Given the description of an element on the screen output the (x, y) to click on. 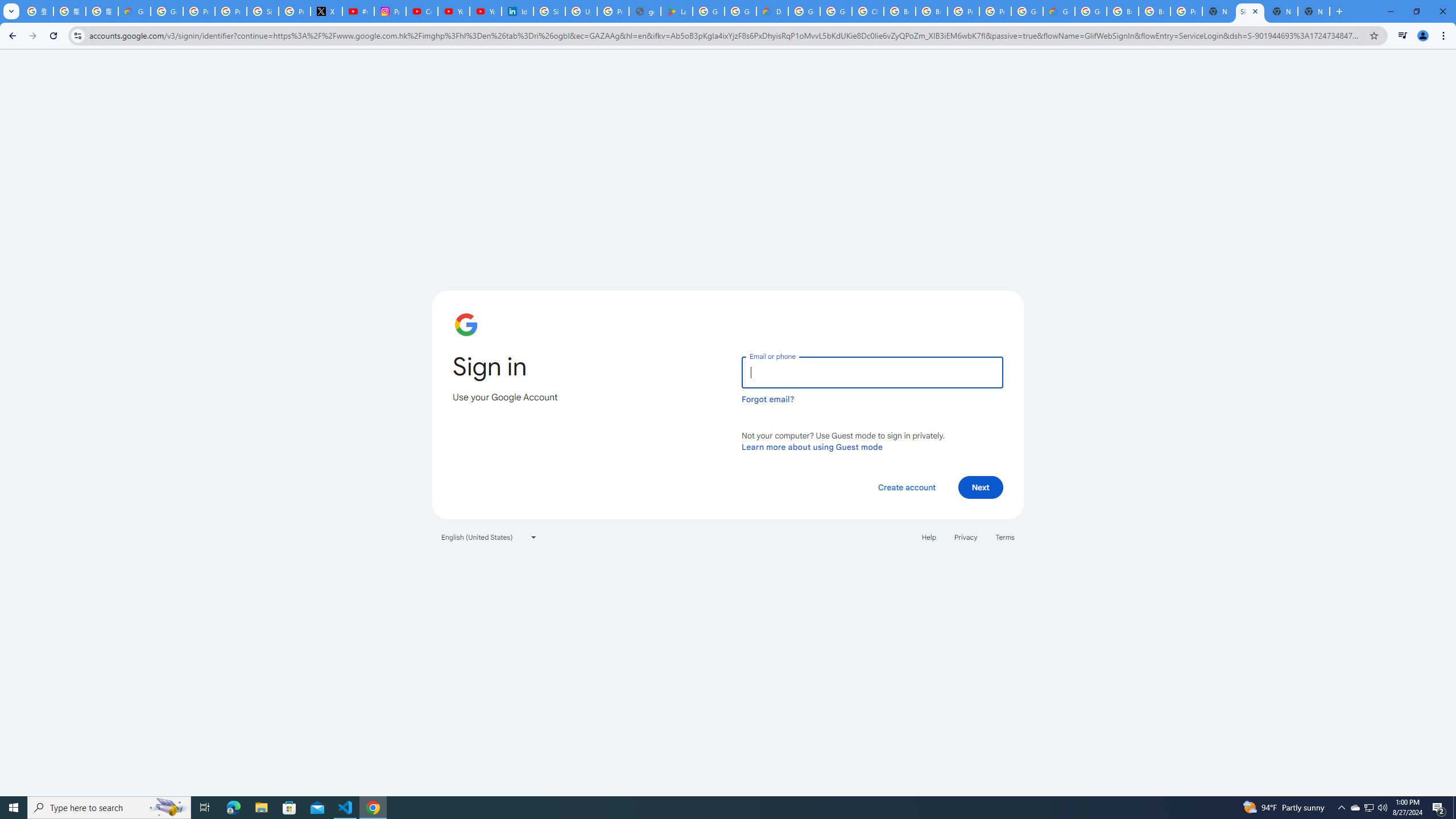
Google Cloud Platform (1027, 11)
Browse Chrome as a guest - Computer - Google Chrome Help (931, 11)
Browse Chrome as a guest - Computer - Google Chrome Help (1154, 11)
Terms (1005, 536)
Privacy Help Center - Policies Help (230, 11)
Google Cloud Platform (1091, 11)
Last Shelter: Survival - Apps on Google Play (676, 11)
Sign in - Google Accounts (262, 11)
